Given the description of an element on the screen output the (x, y) to click on. 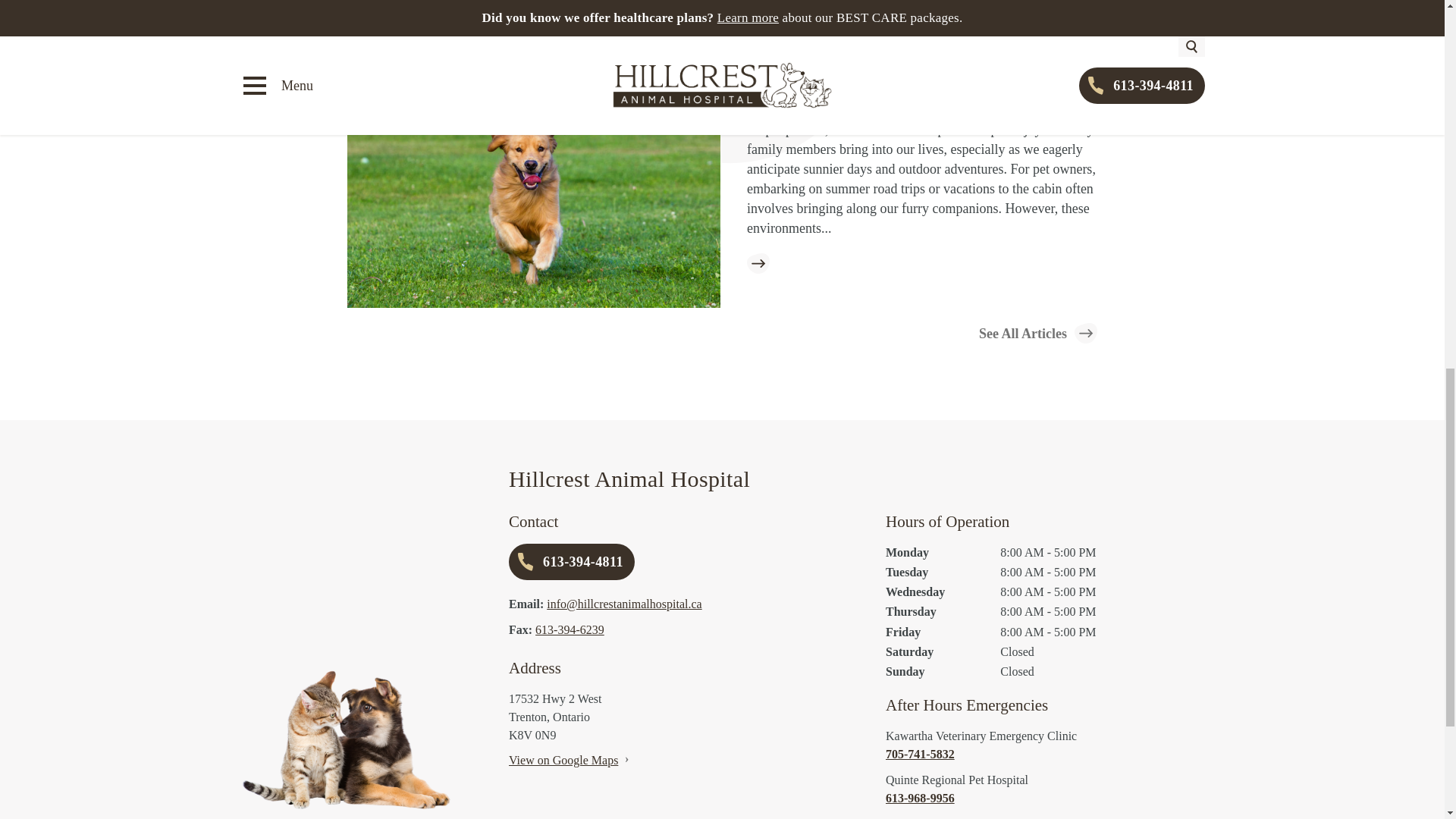
613-394-6239 (569, 629)
View on Google Maps (562, 759)
613-394-4811 (571, 561)
705-741-5832 (1045, 754)
See All Articles (1037, 332)
